Given the description of an element on the screen output the (x, y) to click on. 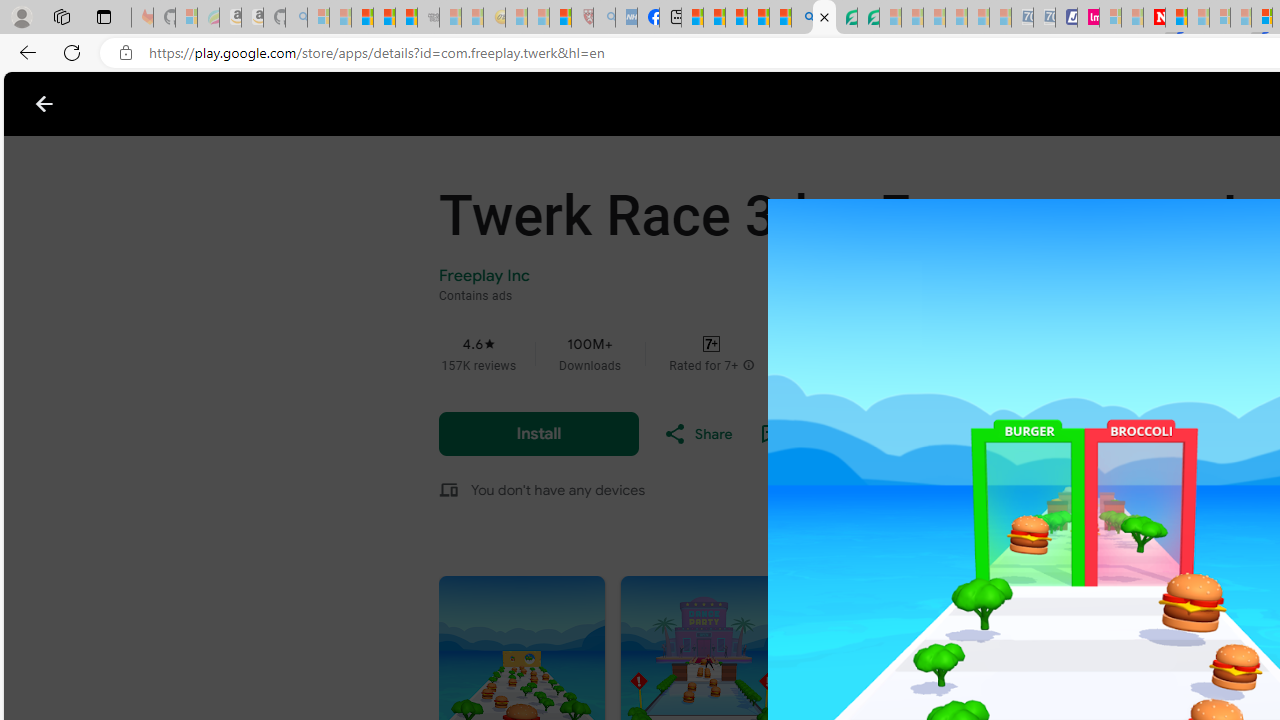
Google Play logo (115, 104)
Terms of Use Agreement (846, 17)
